Given the description of an element on the screen output the (x, y) to click on. 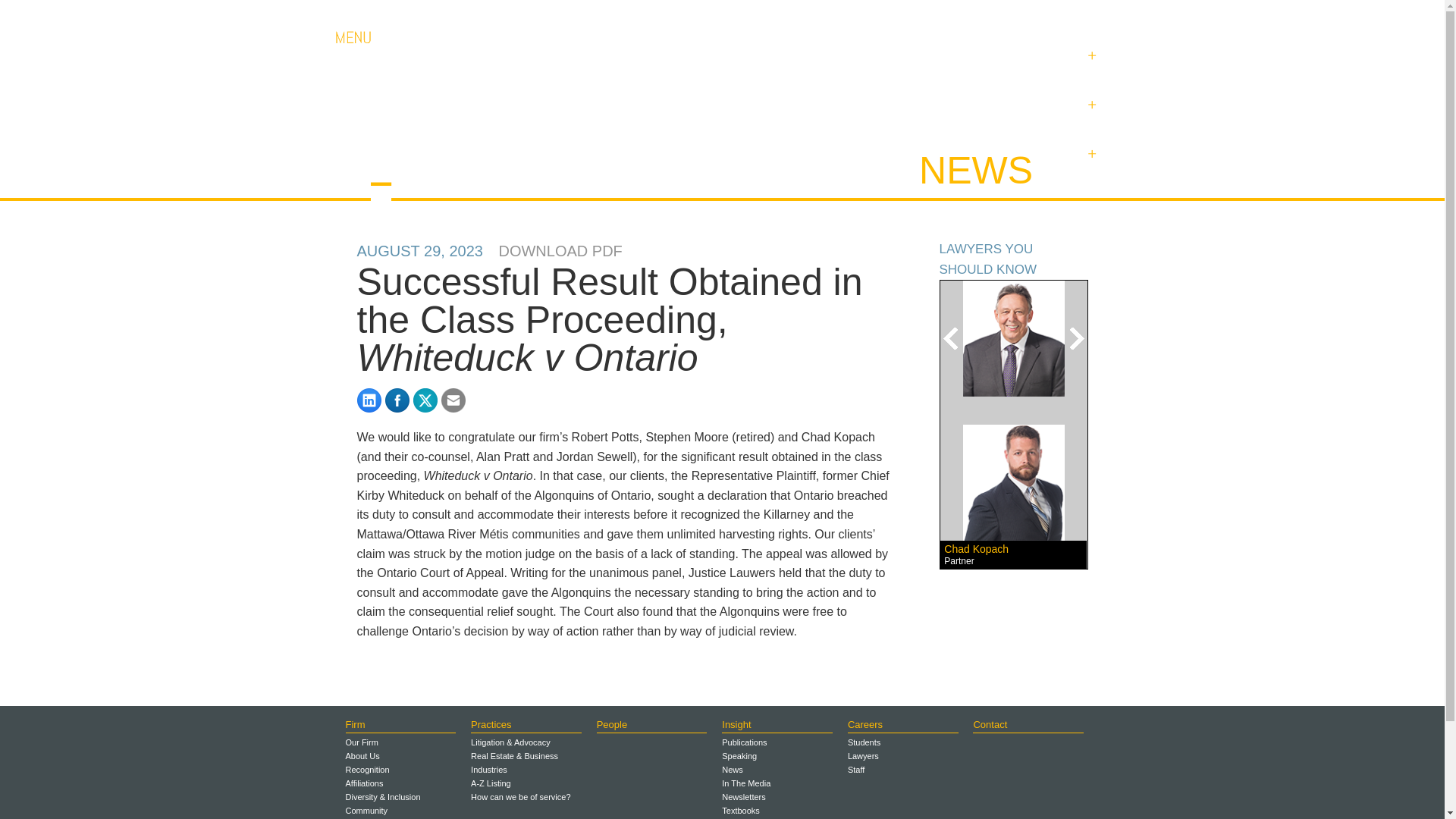
Share to Facebook (397, 400)
Insights (1090, 61)
Share to Twitter (424, 400)
Careers (933, 14)
NEWS (975, 170)
Open Main Menu (352, 48)
Contact (1002, 14)
News (1090, 159)
Share to LinkedIn (368, 400)
Social (1090, 110)
Payments (1077, 14)
Link to Home Page (440, 155)
